Given the description of an element on the screen output the (x, y) to click on. 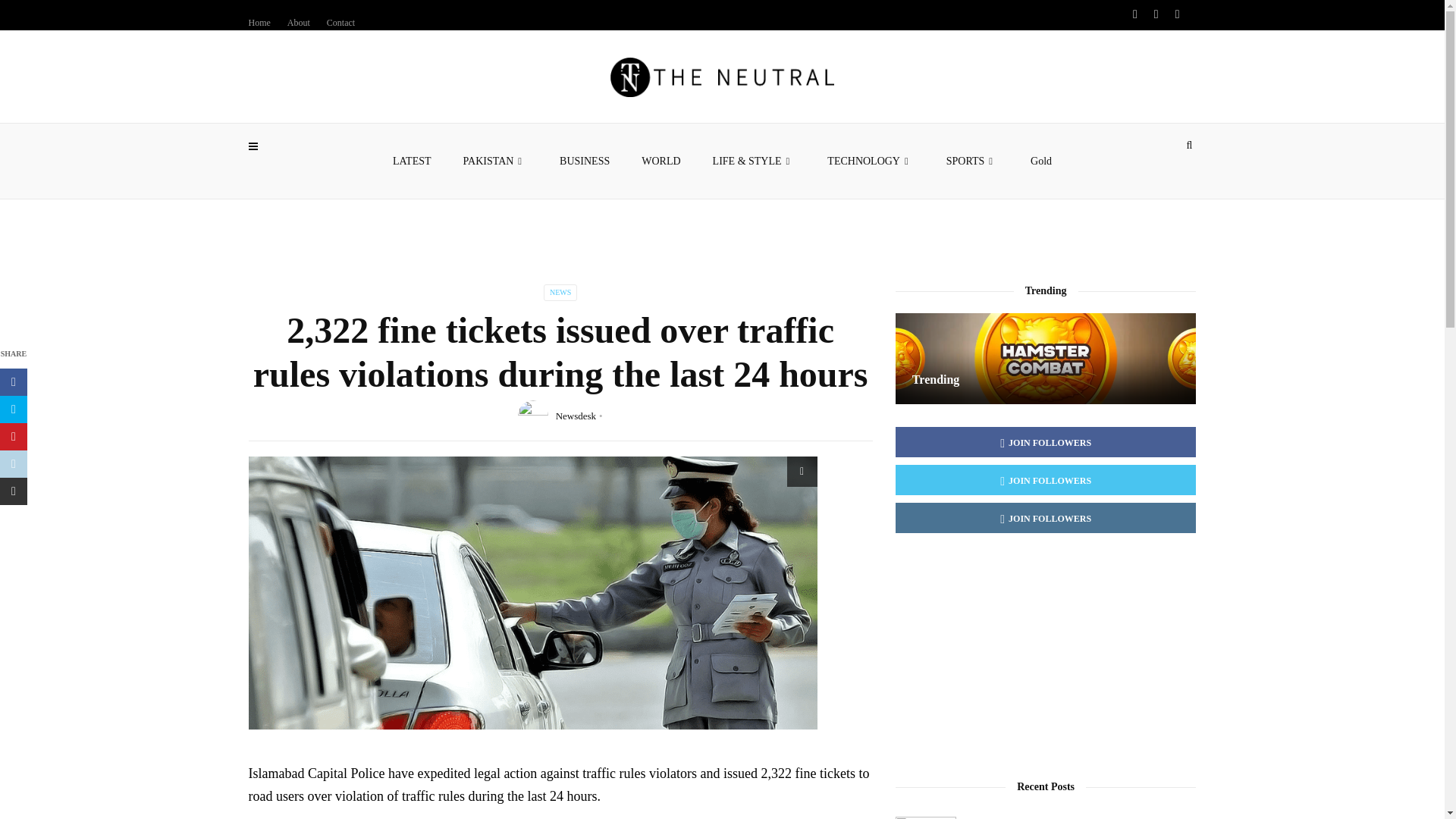
WORLD (660, 160)
PAKISTAN (495, 160)
LATEST (411, 160)
BUSINESS (584, 160)
